Given the description of an element on the screen output the (x, y) to click on. 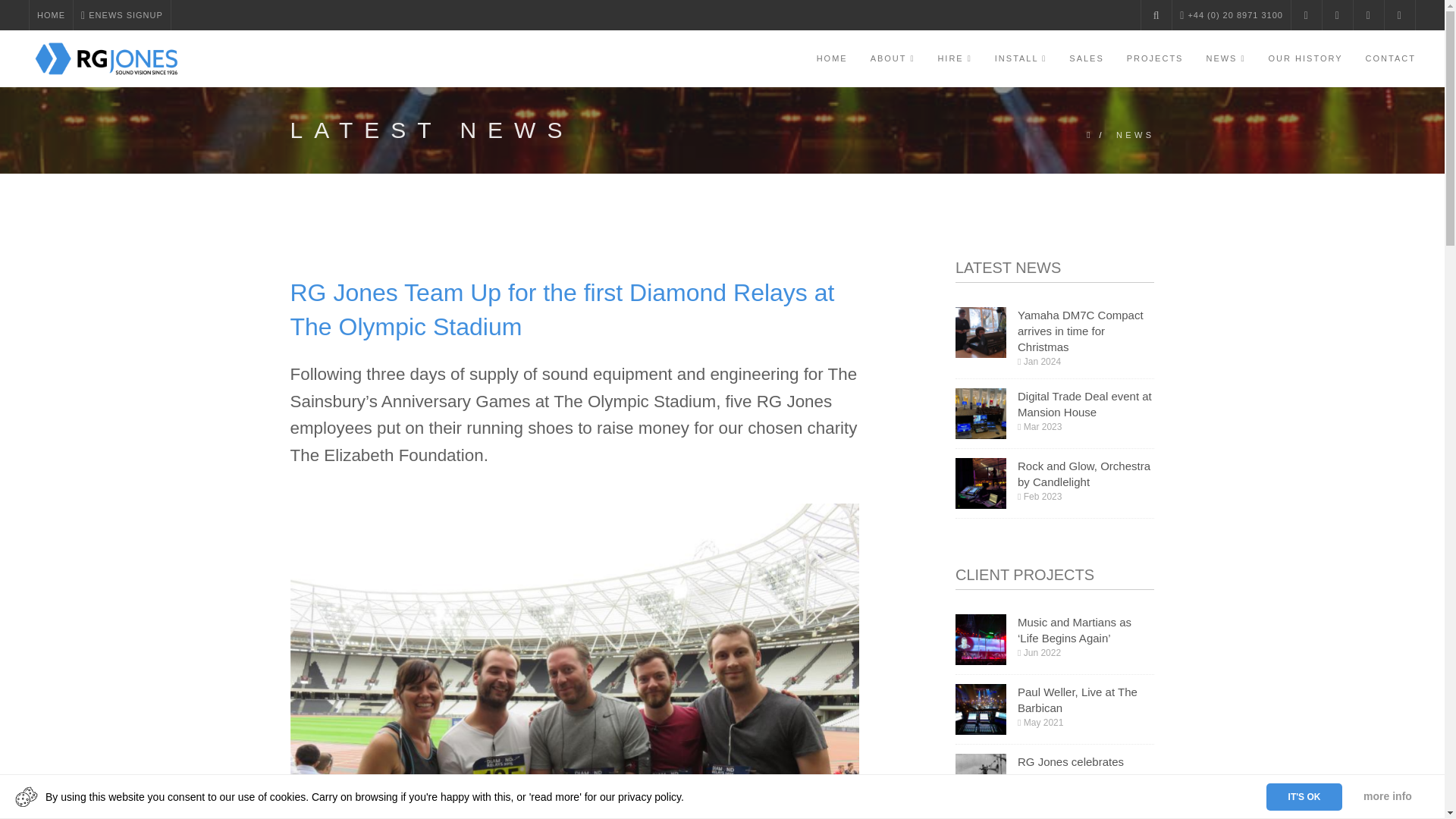
HOME (50, 15)
INSTALL (1020, 58)
ENews Signup (122, 15)
ENEWS SIGNUP (122, 15)
Return to Home (50, 15)
